Given the description of an element on the screen output the (x, y) to click on. 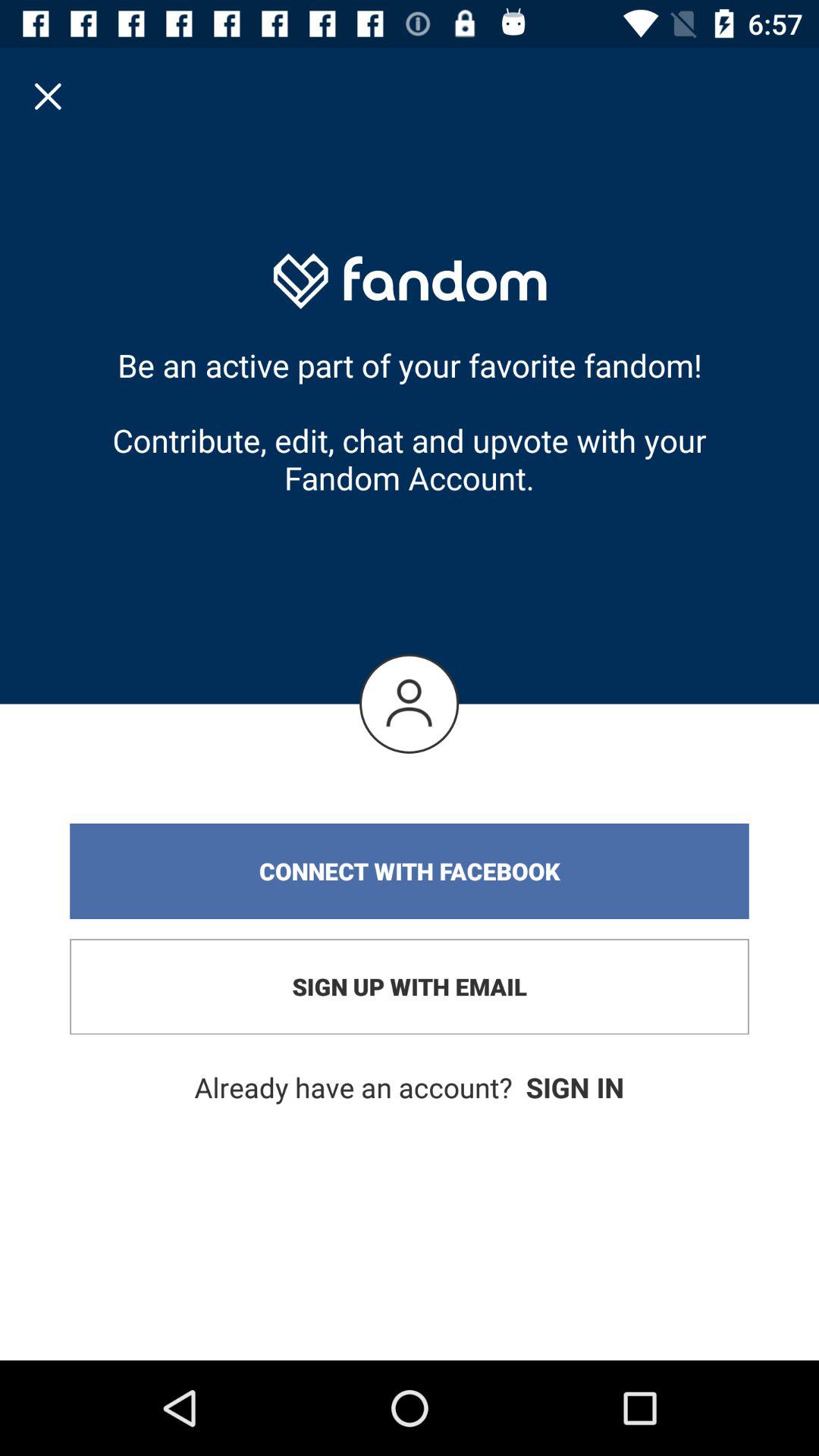
jump to sign up with item (409, 986)
